Given the description of an element on the screen output the (x, y) to click on. 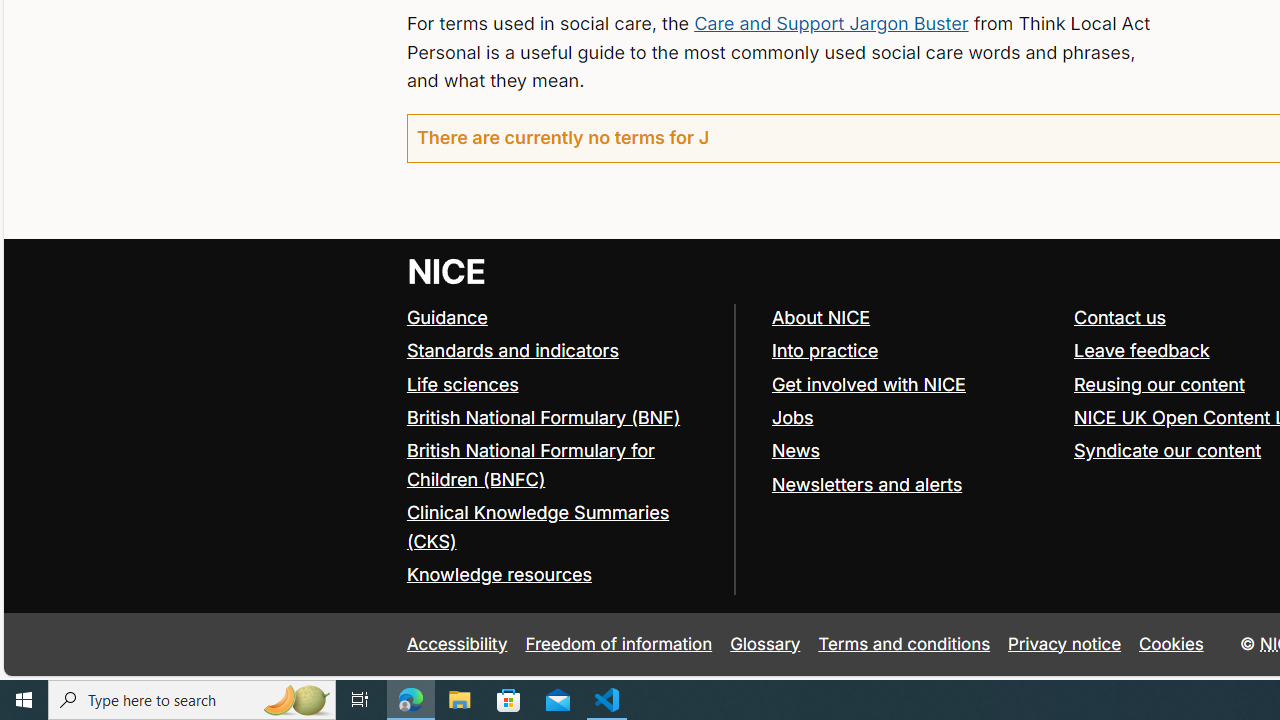
About NICE (820, 317)
British National Formulary for Children (BNFC) (530, 464)
Jobs (913, 417)
Privacy notice (1065, 644)
Into practice (824, 350)
Privacy notice (1065, 644)
Care and Support Jargon Buster (830, 22)
Cookies (1171, 644)
Jobs (792, 416)
Accessibility (456, 644)
Contact us (1120, 317)
Knowledge resources (560, 575)
Into practice (913, 351)
